Given the description of an element on the screen output the (x, y) to click on. 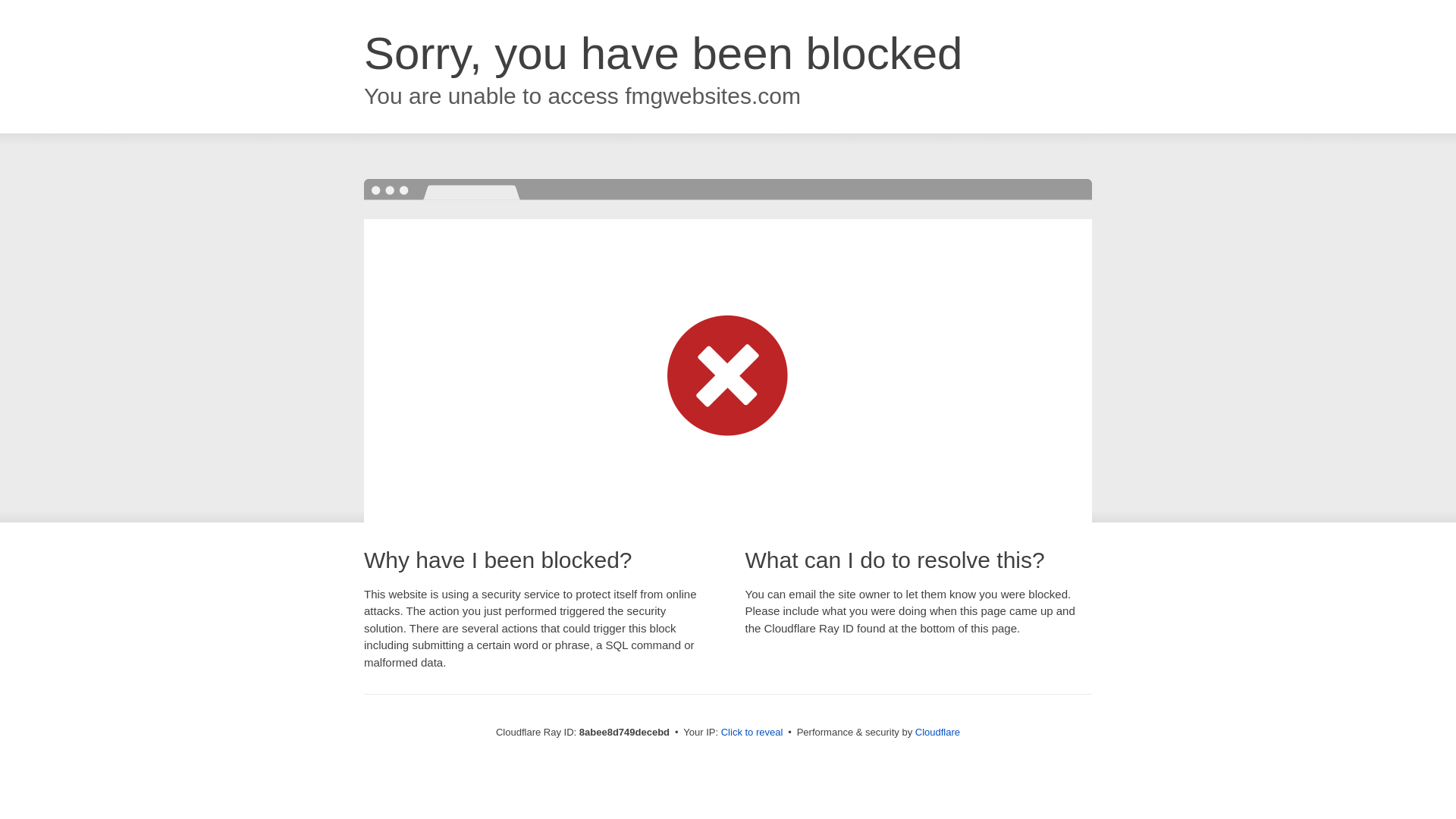
Click to reveal (751, 732)
Cloudflare (937, 731)
